Given the description of an element on the screen output the (x, y) to click on. 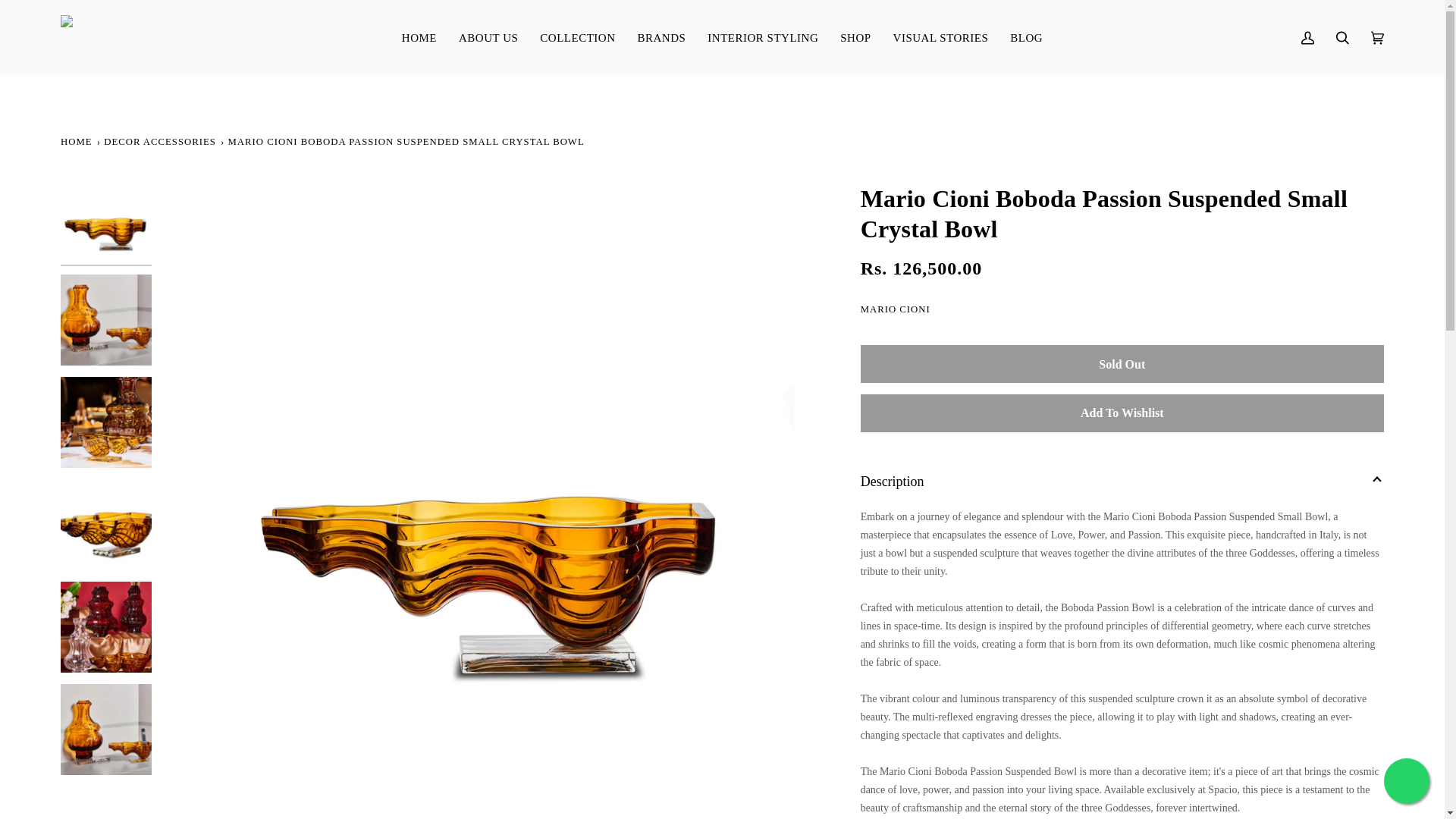
Back to the frontpage (77, 141)
BRANDS (661, 38)
COLLECTION (577, 38)
INTERIOR STYLING (763, 38)
ABOUT US (487, 38)
